Given the description of an element on the screen output the (x, y) to click on. 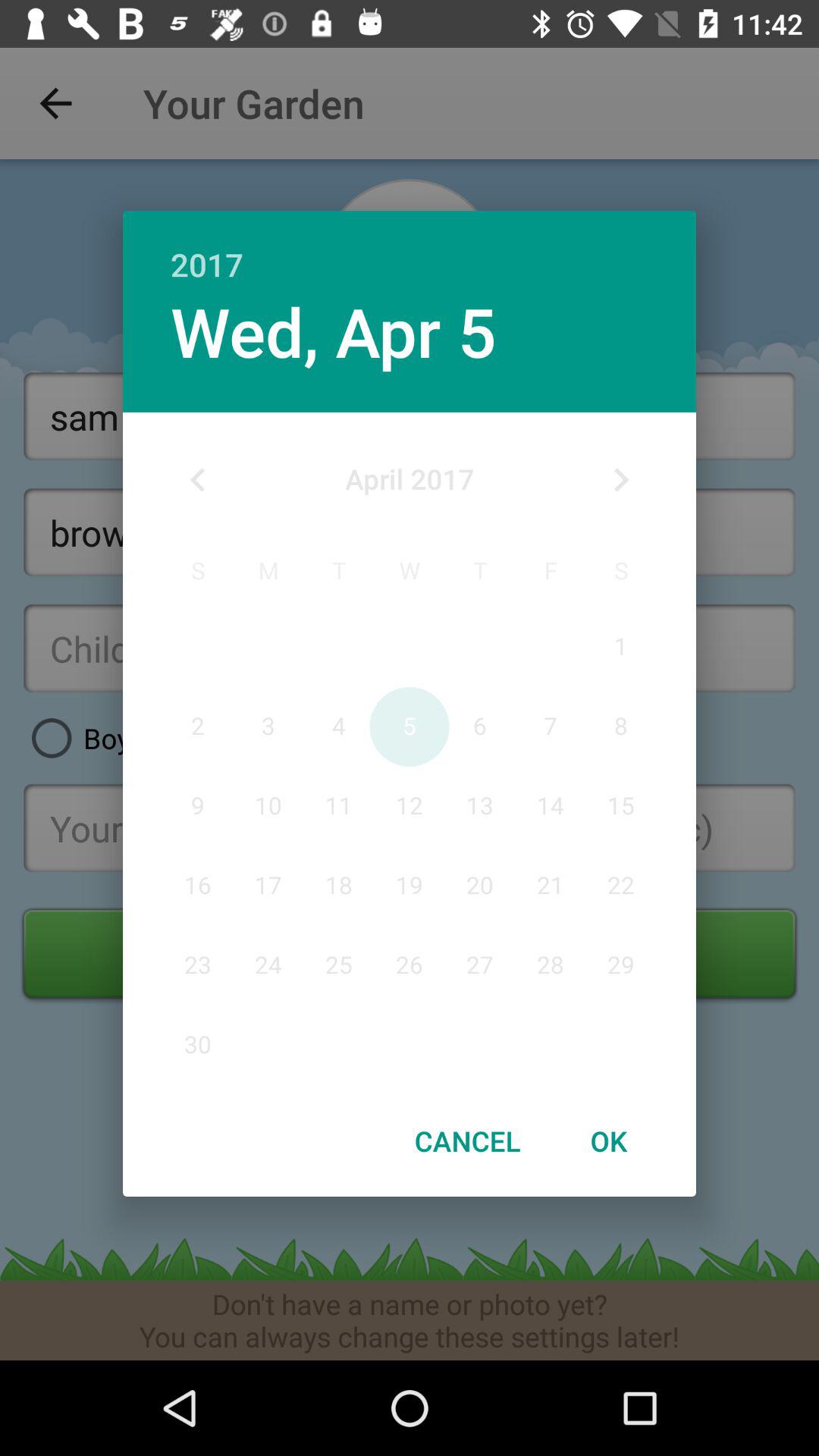
turn on icon at the top left corner (197, 479)
